Given the description of an element on the screen output the (x, y) to click on. 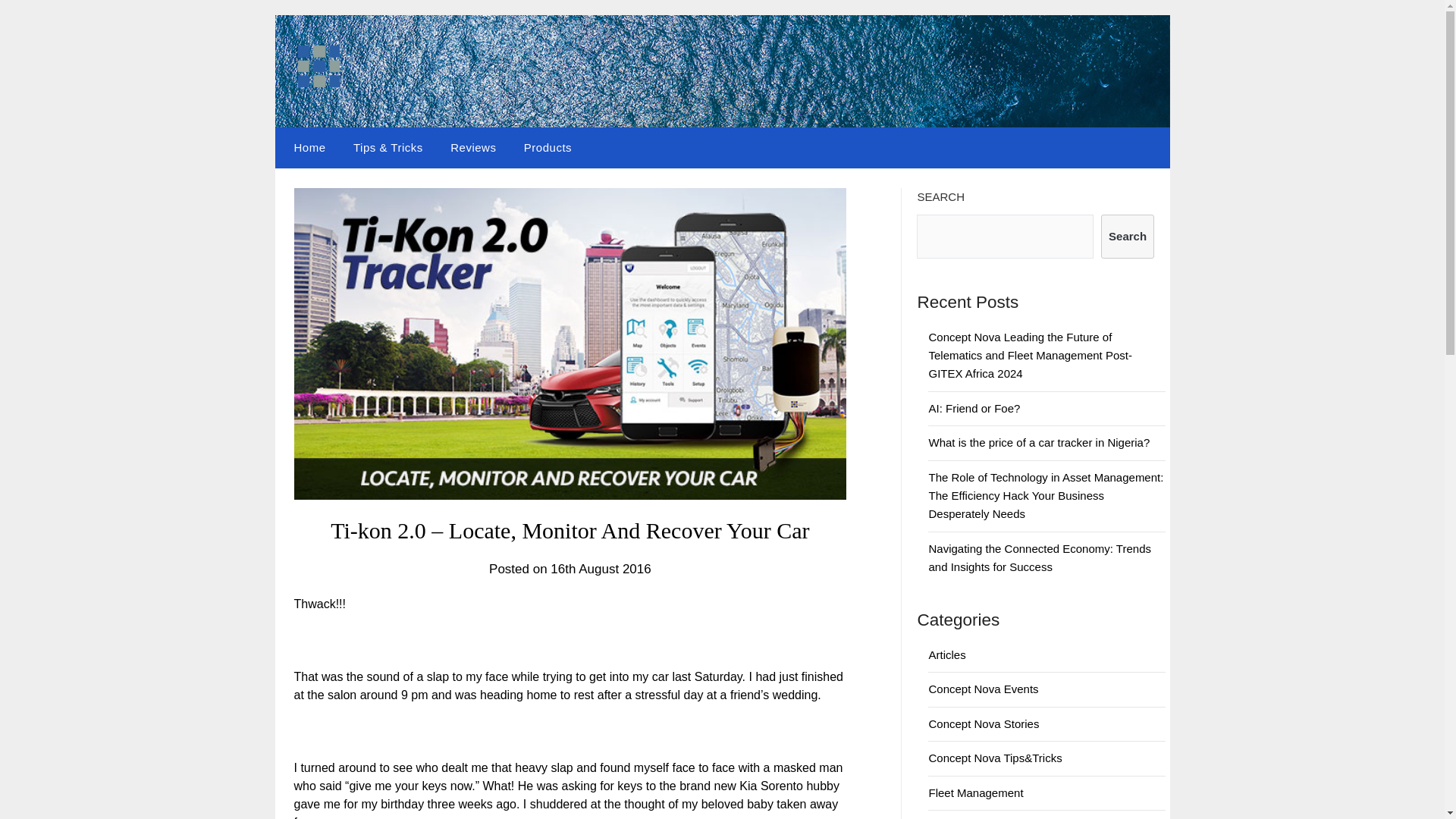
AI: Friend or Foe? (974, 408)
Concept Nova Stories (983, 723)
Fleet Management (975, 791)
What is the price of a car tracker in Nigeria? (1039, 441)
Products (547, 147)
Articles (946, 654)
Search (1127, 236)
Reviews (473, 147)
Concept Nova Events (983, 688)
Home (306, 147)
